Given the description of an element on the screen output the (x, y) to click on. 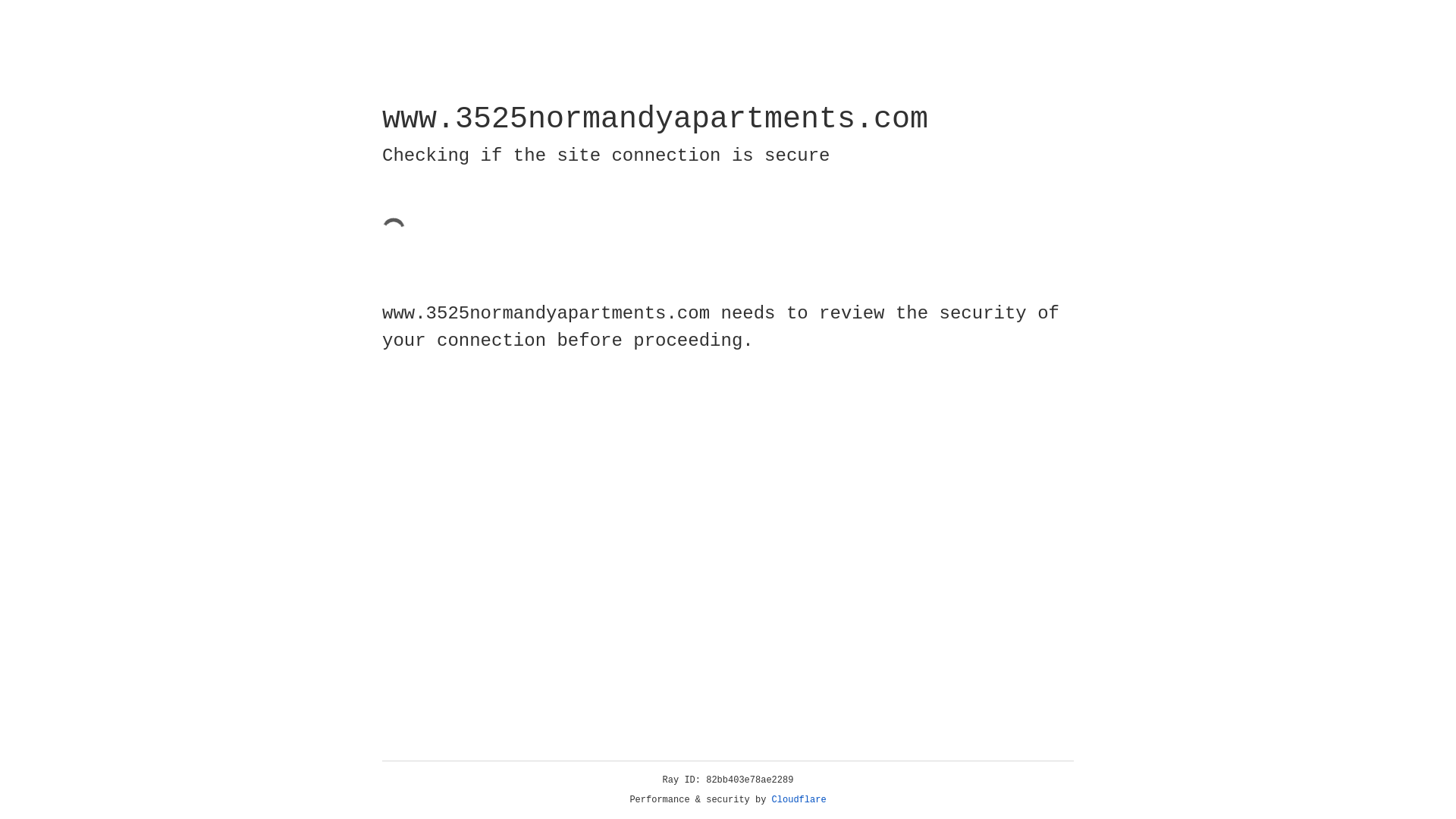
Cloudflare Element type: text (798, 799)
